Given the description of an element on the screen output the (x, y) to click on. 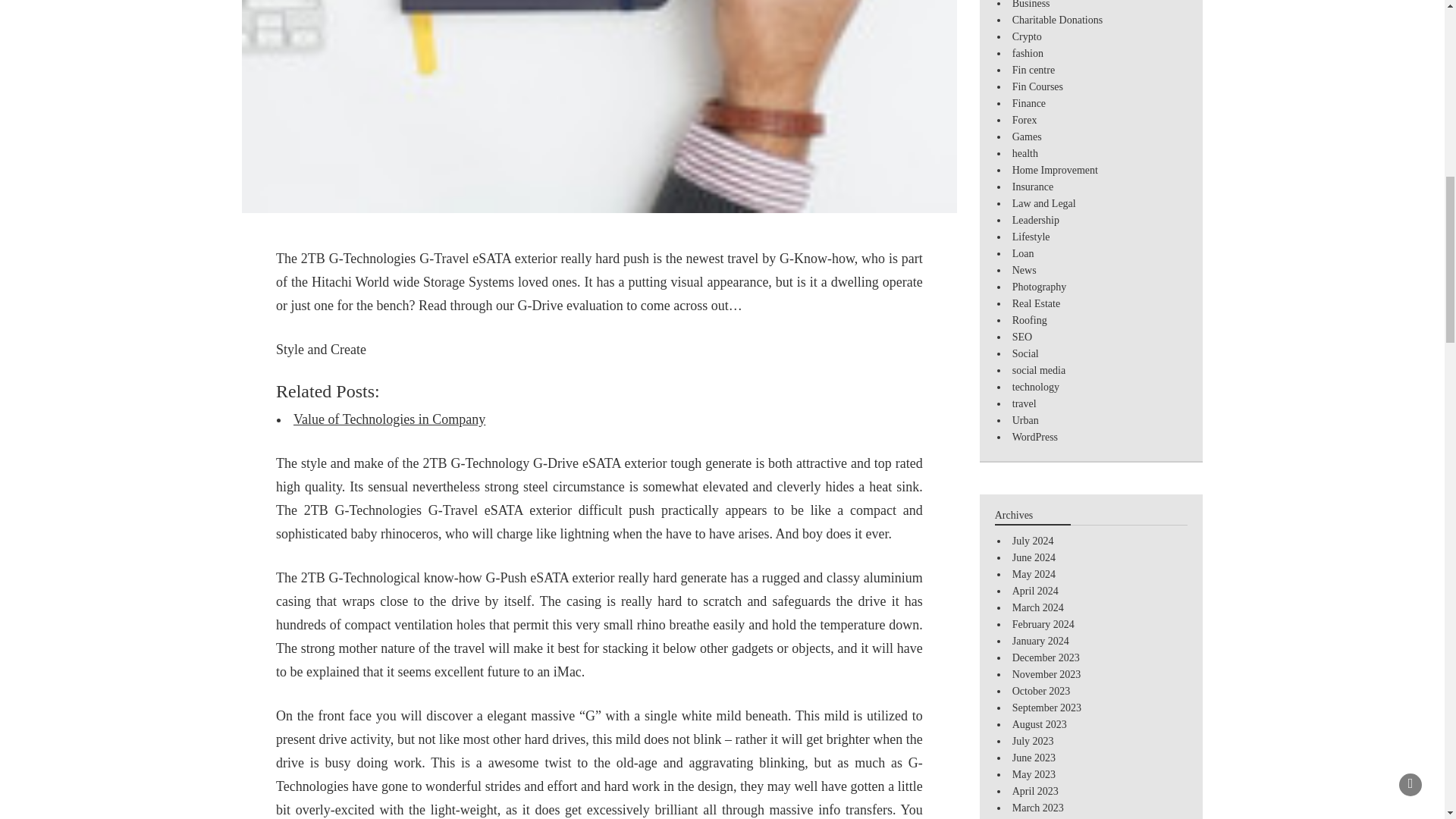
Value of Technologies in Company (389, 418)
